Given the description of an element on the screen output the (x, y) to click on. 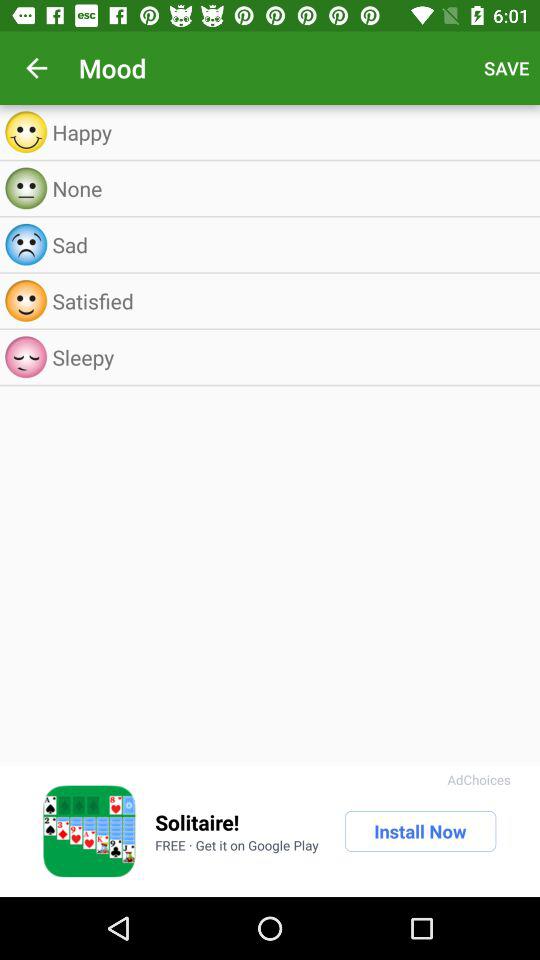
open item to the left of install now item (197, 822)
